Given the description of an element on the screen output the (x, y) to click on. 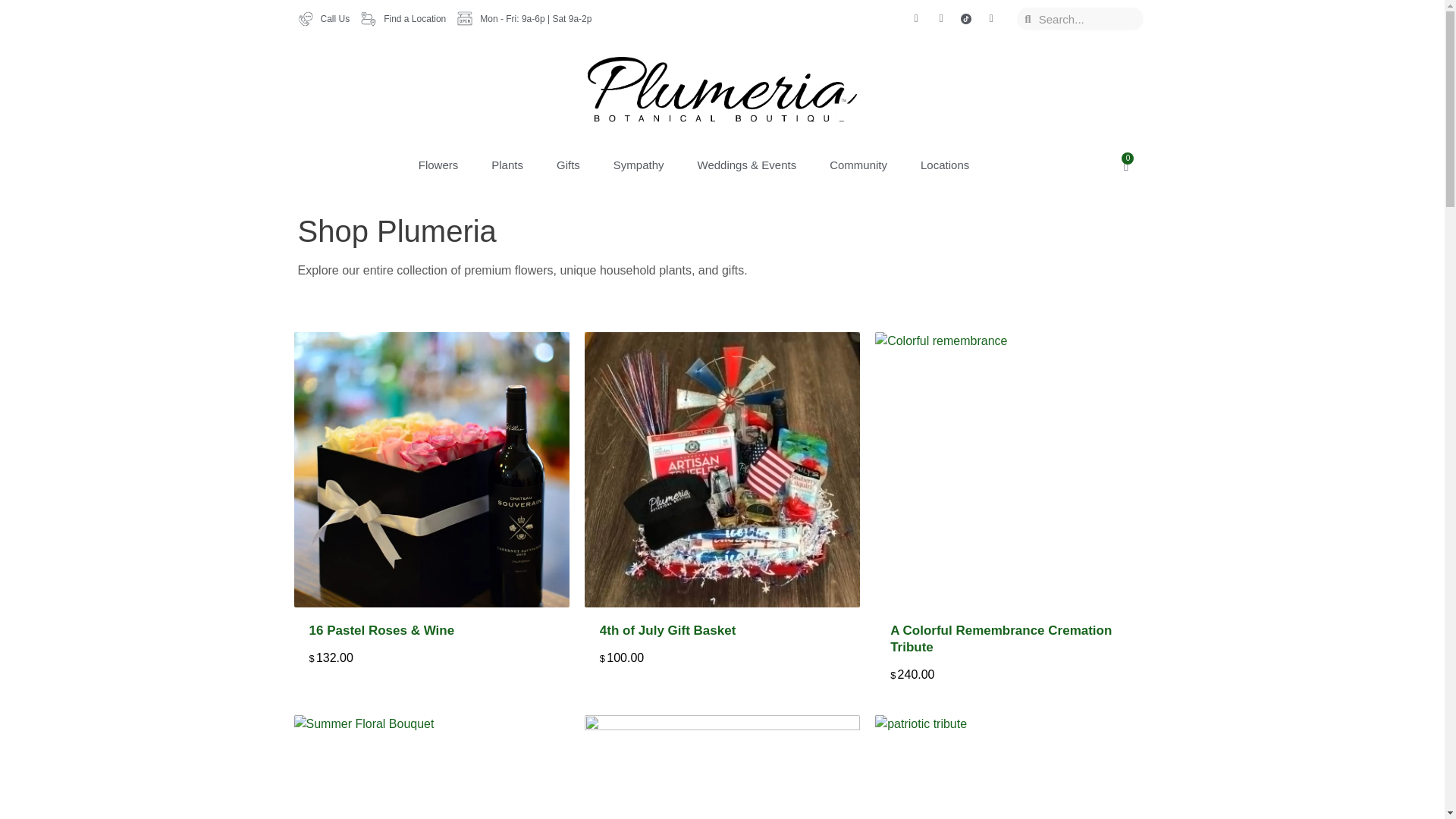
Find a Location (403, 18)
Plants (507, 164)
A Colorful Remembrance Cremation Tribute (1000, 638)
Flowers (438, 164)
4th of July Gift Basket (667, 630)
Call Us (323, 18)
